Given the description of an element on the screen output the (x, y) to click on. 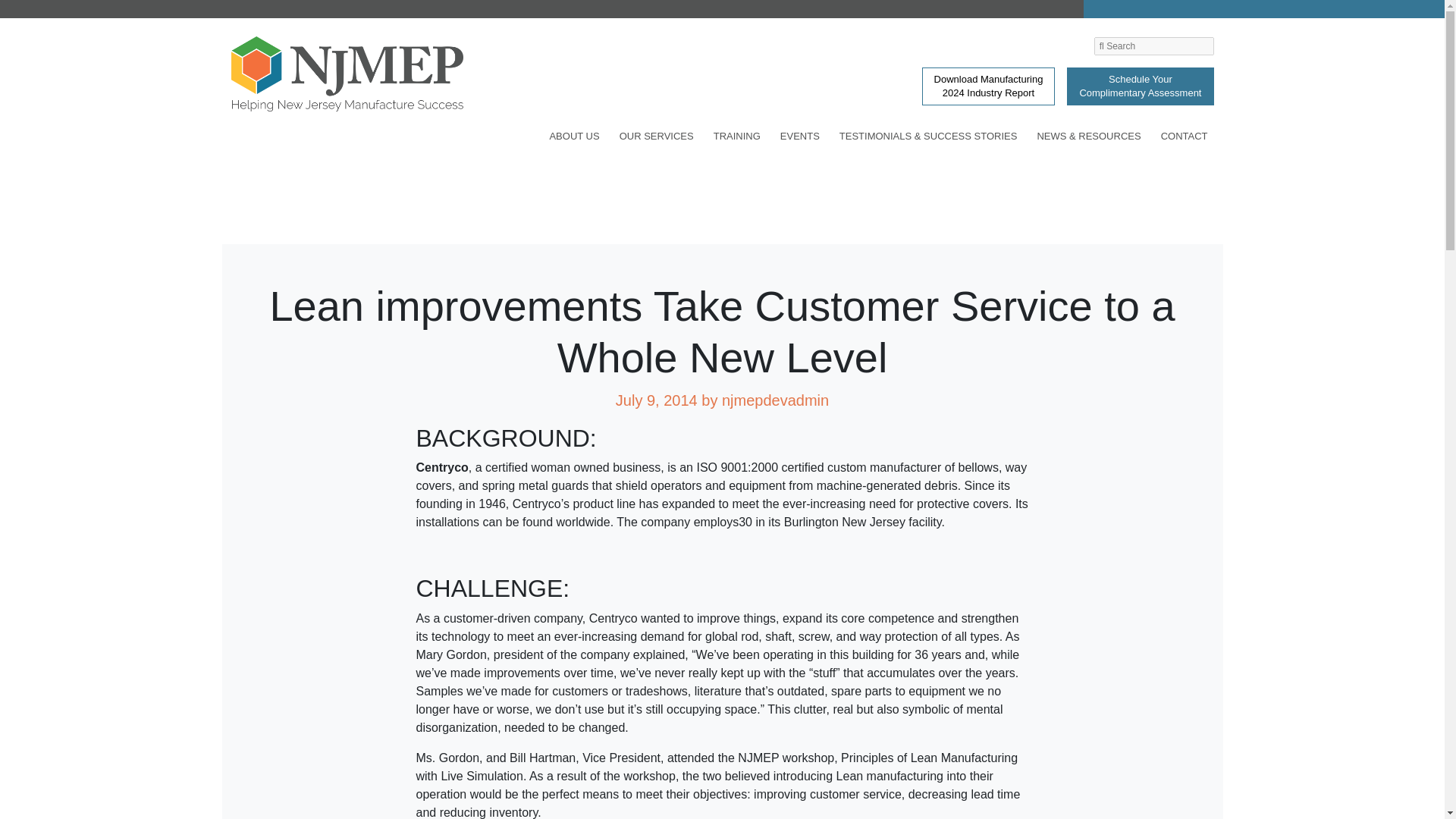
ABOUT US (574, 139)
Affiliate Program (339, 26)
TRAINING (737, 139)
Calendar (339, 8)
Medical Device Manufacturing (339, 11)
The Manufacturing Counts Initiative (339, 4)
OUR SERVICES (656, 139)
Classes (339, 32)
